Given the description of an element on the screen output the (x, y) to click on. 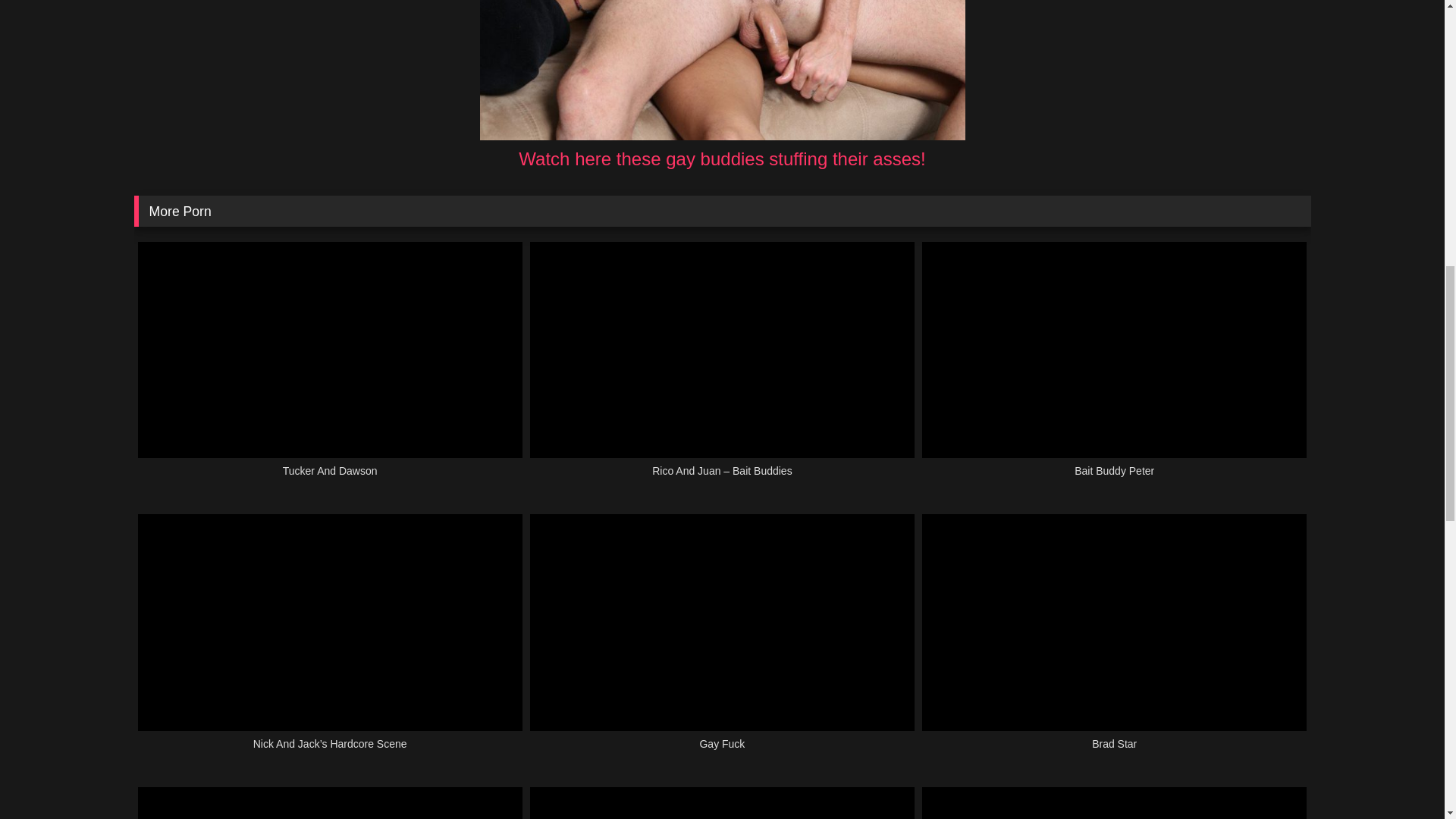
Xavier And Grayson (1113, 803)
Gay Fuck (721, 640)
Brad Star (1113, 640)
Tucker And Dawson (330, 368)
Bait Buddy Peter (1113, 368)
Brad Star (1113, 640)
Bait Buddy Peter (1113, 368)
Gay Fuck (721, 640)
Watch here these gay buddies stuffing their asses! (721, 158)
Tucker And Dawson (330, 368)
